Given the description of an element on the screen output the (x, y) to click on. 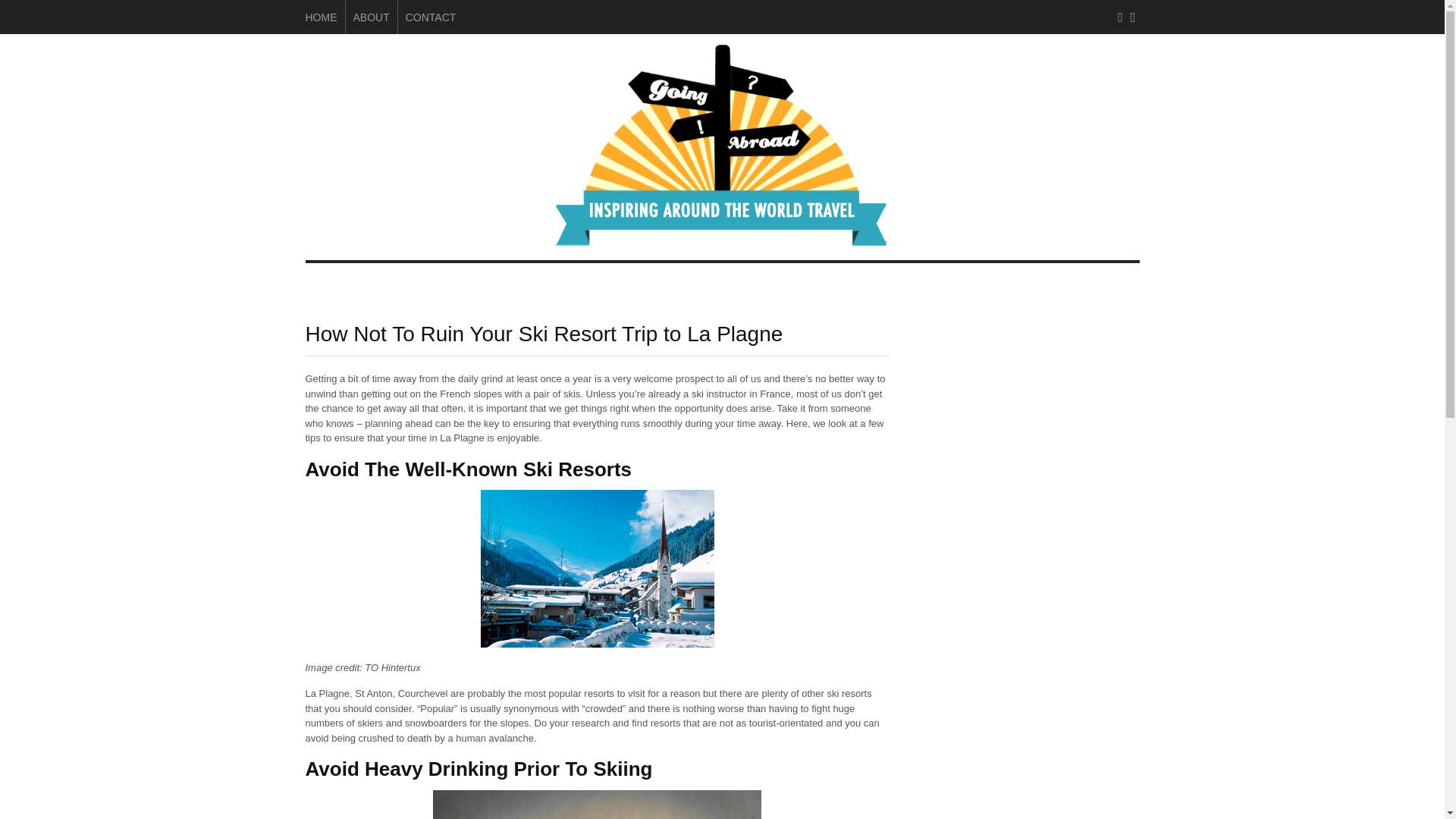
Much Drunk (596, 804)
ABOUT (371, 17)
CONTACT (431, 17)
Ski Trip to La Plagne (597, 568)
HOME (320, 17)
